Given the description of an element on the screen output the (x, y) to click on. 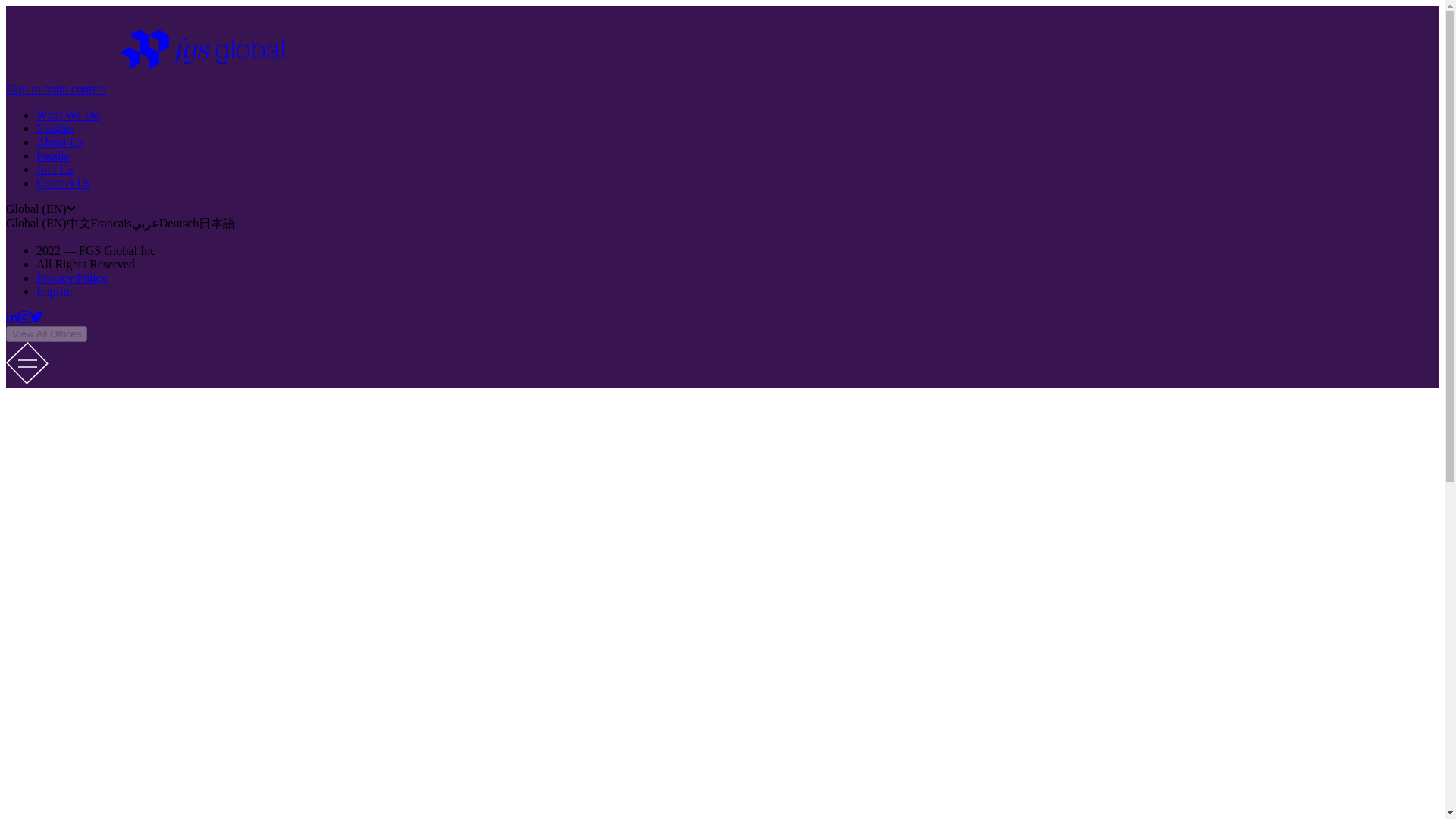
Imprint (54, 291)
Privacy Policy (71, 277)
View All Offices (46, 332)
View All Offices (46, 333)
About Us (59, 141)
Contact Us (63, 182)
Skip to main content (55, 88)
Join Us (54, 169)
Insights (55, 128)
What We Do (67, 114)
